Given the description of an element on the screen output the (x, y) to click on. 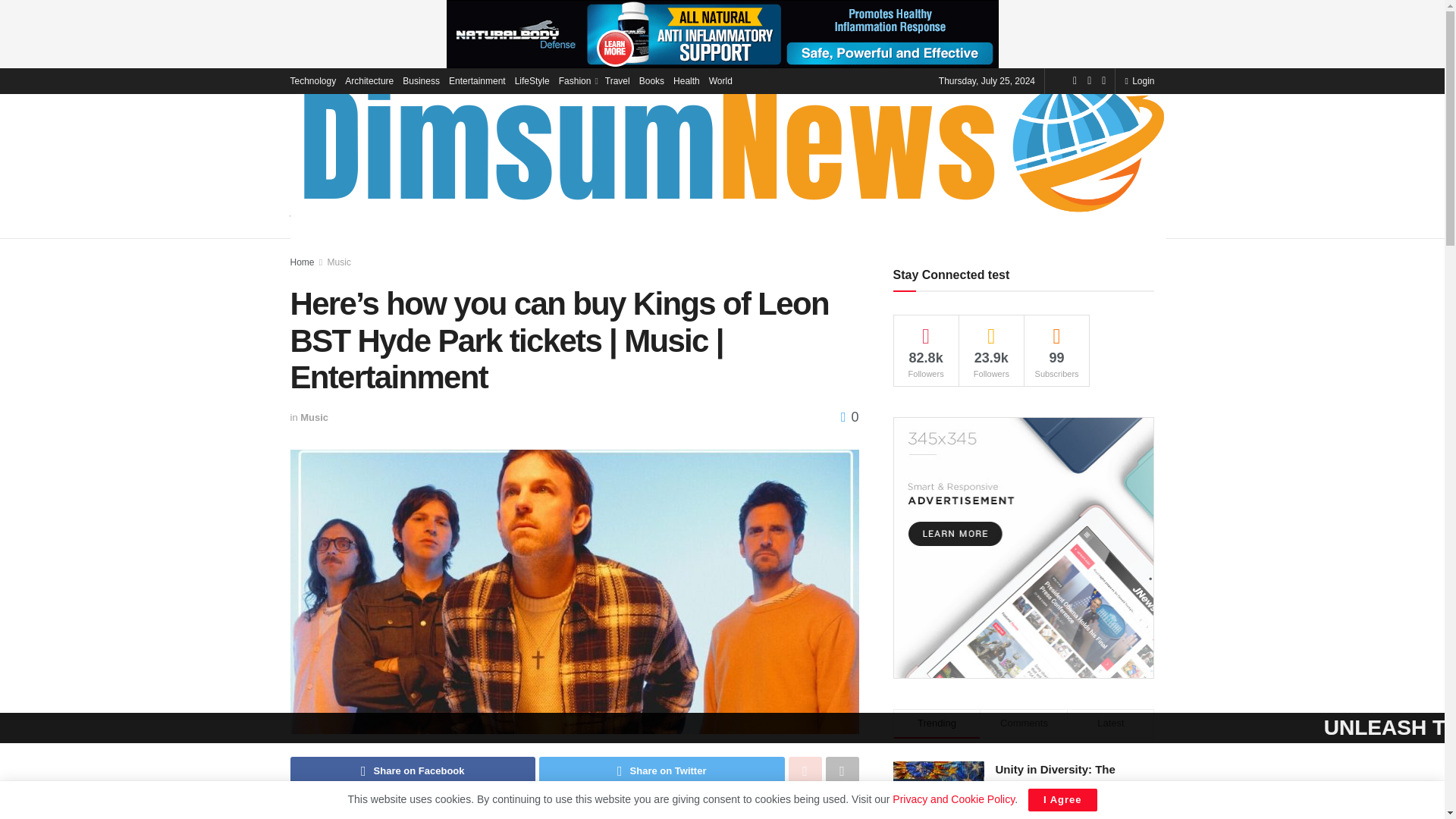
World (720, 80)
Entertainment (476, 80)
LifeStyle (532, 80)
Fashion (577, 80)
Travel (617, 80)
Architecture (369, 80)
Business (421, 80)
Technology (312, 80)
ARCHITECTURE (431, 219)
Books (651, 80)
TECHNOLOGY (329, 219)
Login (1139, 80)
Health (686, 80)
